Given the description of an element on the screen output the (x, y) to click on. 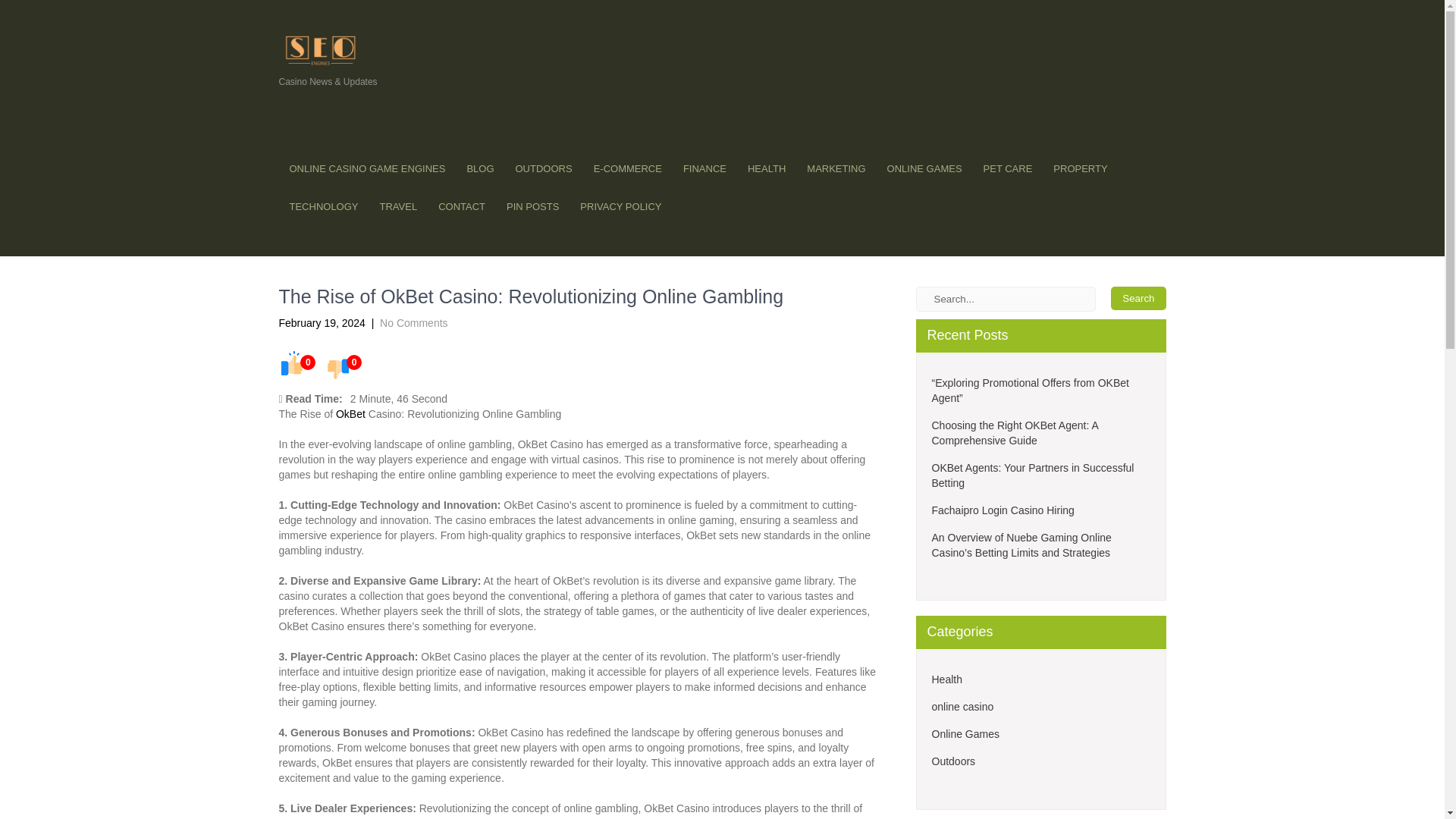
PET CARE (1007, 168)
OkBet (350, 413)
PROPERTY (1080, 168)
HEALTH (766, 168)
Search (1138, 298)
FINANCE (704, 168)
PRIVACY POLICY (620, 207)
CONTACT (462, 207)
E-COMMERCE (627, 168)
Search (1138, 298)
PIN POSTS (532, 207)
ONLINE CASINO GAME ENGINES (368, 168)
Search (1138, 298)
No Comments (413, 322)
OUTDOORS (544, 168)
